Given the description of an element on the screen output the (x, y) to click on. 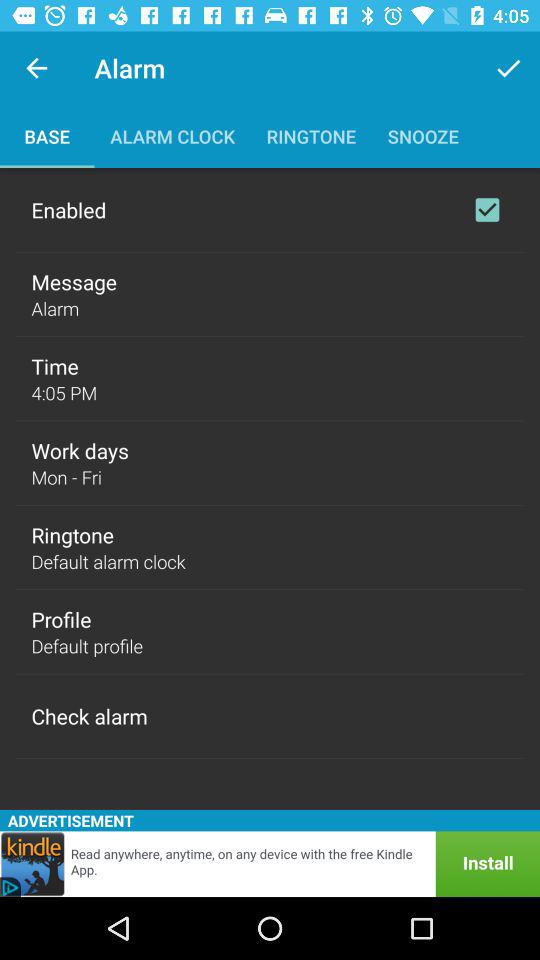
click item next to alarm item (508, 67)
